Given the description of an element on the screen output the (x, y) to click on. 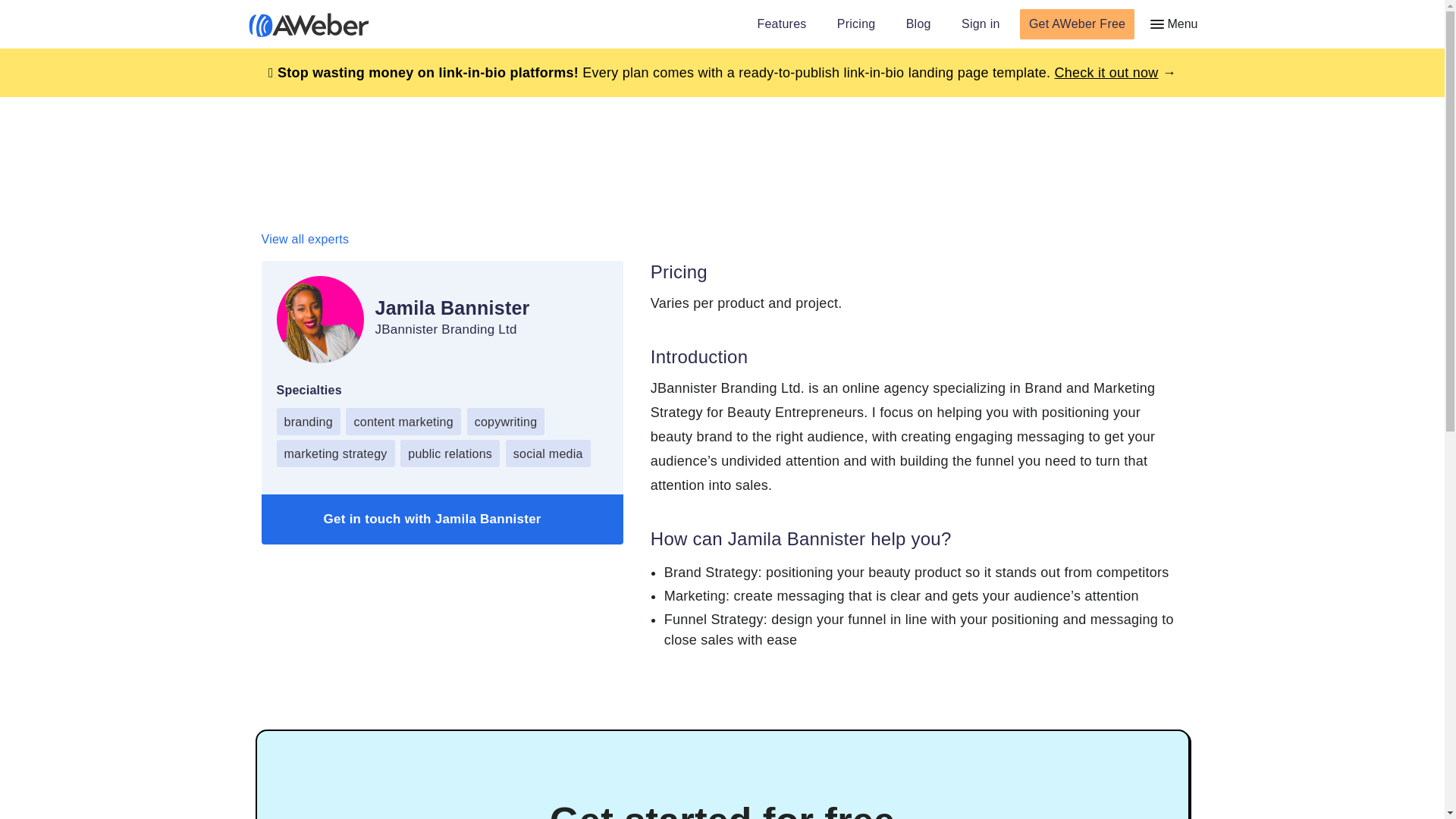
Get AWeber Free (1077, 24)
Blog (918, 25)
Pricing (856, 25)
Features (781, 25)
AWeber logo (297, 24)
Sign in (980, 25)
